Given the description of an element on the screen output the (x, y) to click on. 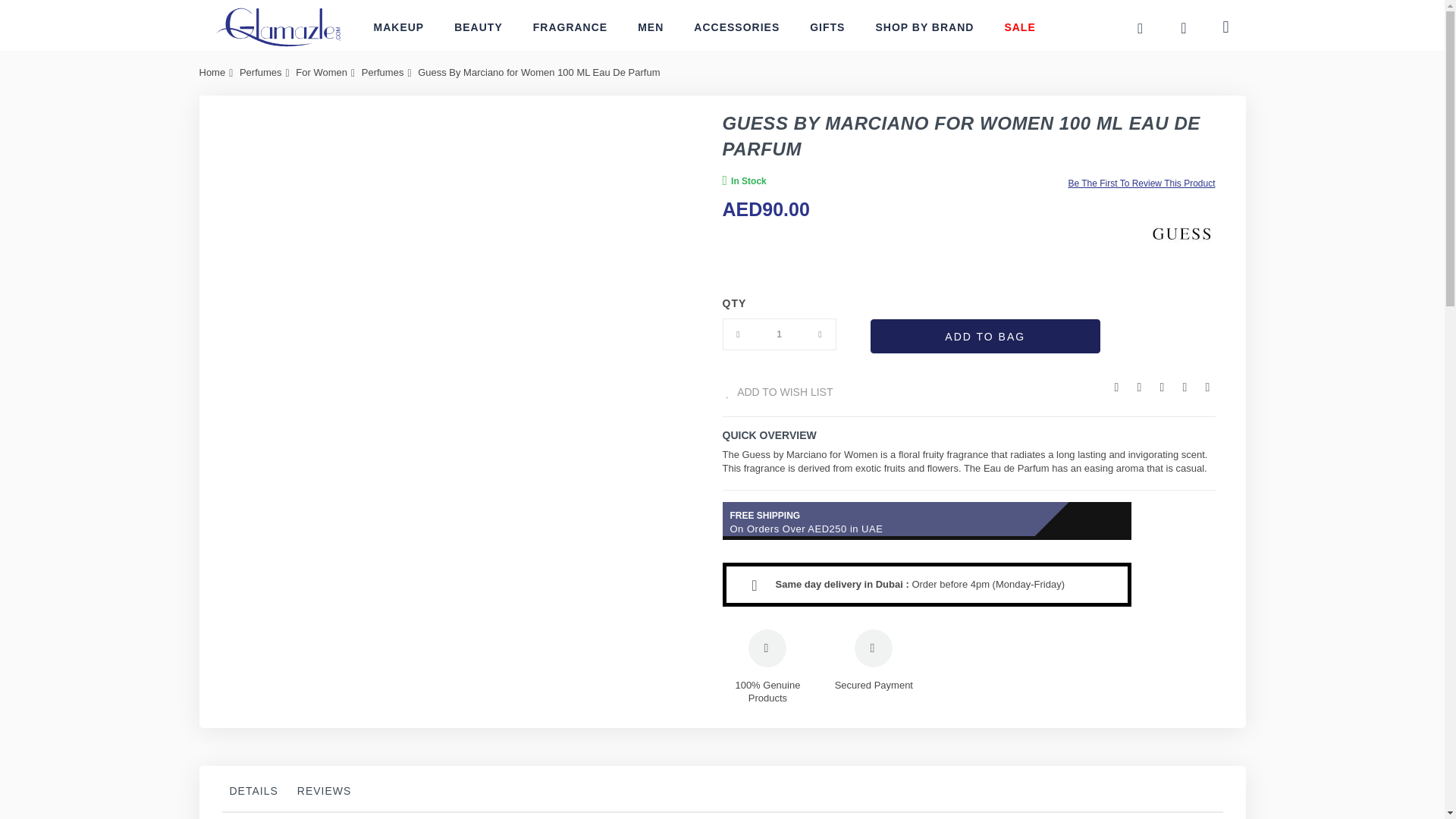
Perfumes (382, 71)
FRAGRANCE (570, 27)
MEN (650, 27)
For Women (321, 71)
Perfumes (261, 71)
Online Beauty and Fashion Store Dubai UAE (278, 26)
BEAUTY (478, 27)
1 (779, 334)
Qty (779, 334)
ACCESSORIES (736, 27)
